Given the description of an element on the screen output the (x, y) to click on. 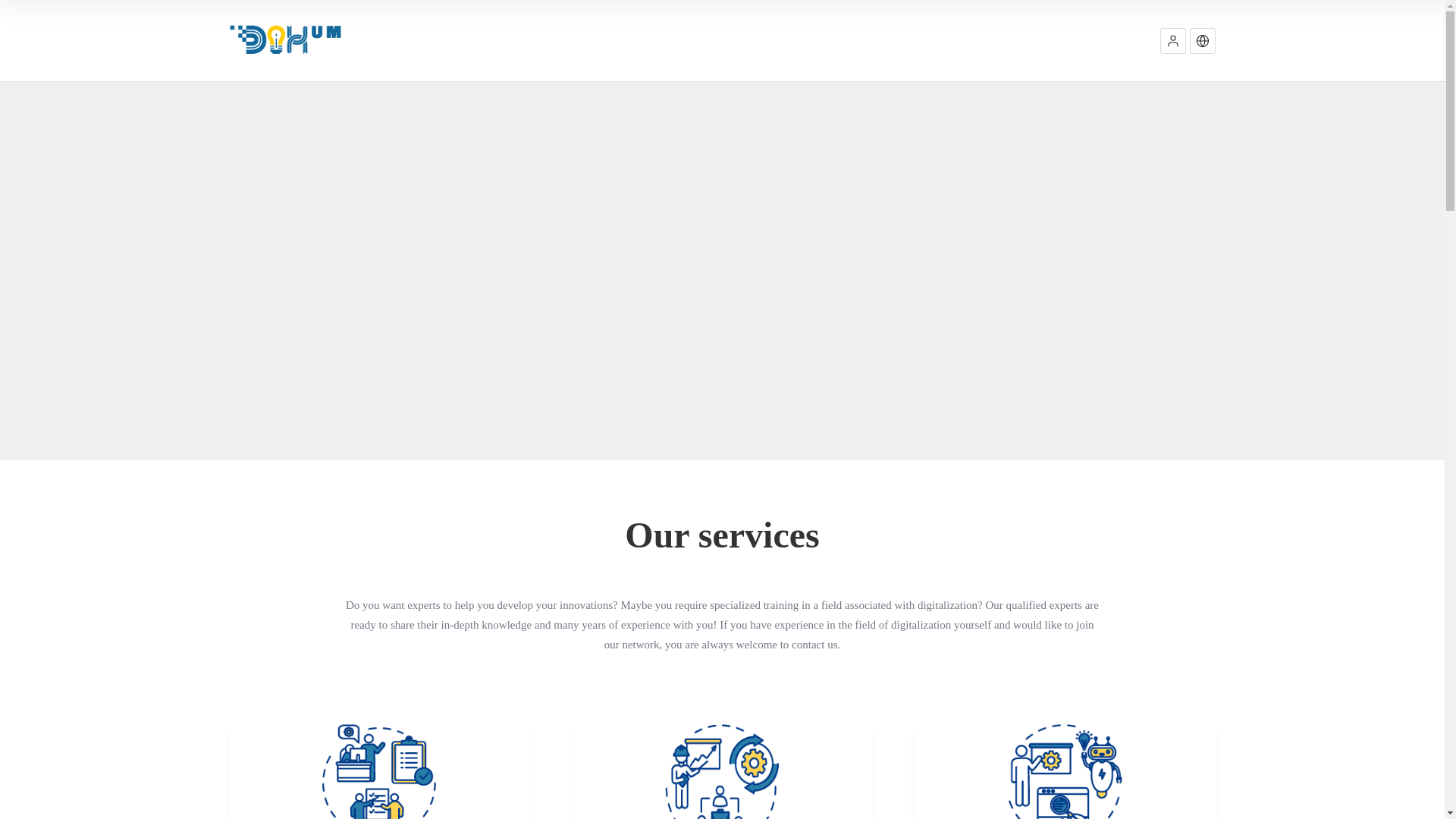
Log In (992, 94)
DIH UM (284, 39)
